Given the description of an element on the screen output the (x, y) to click on. 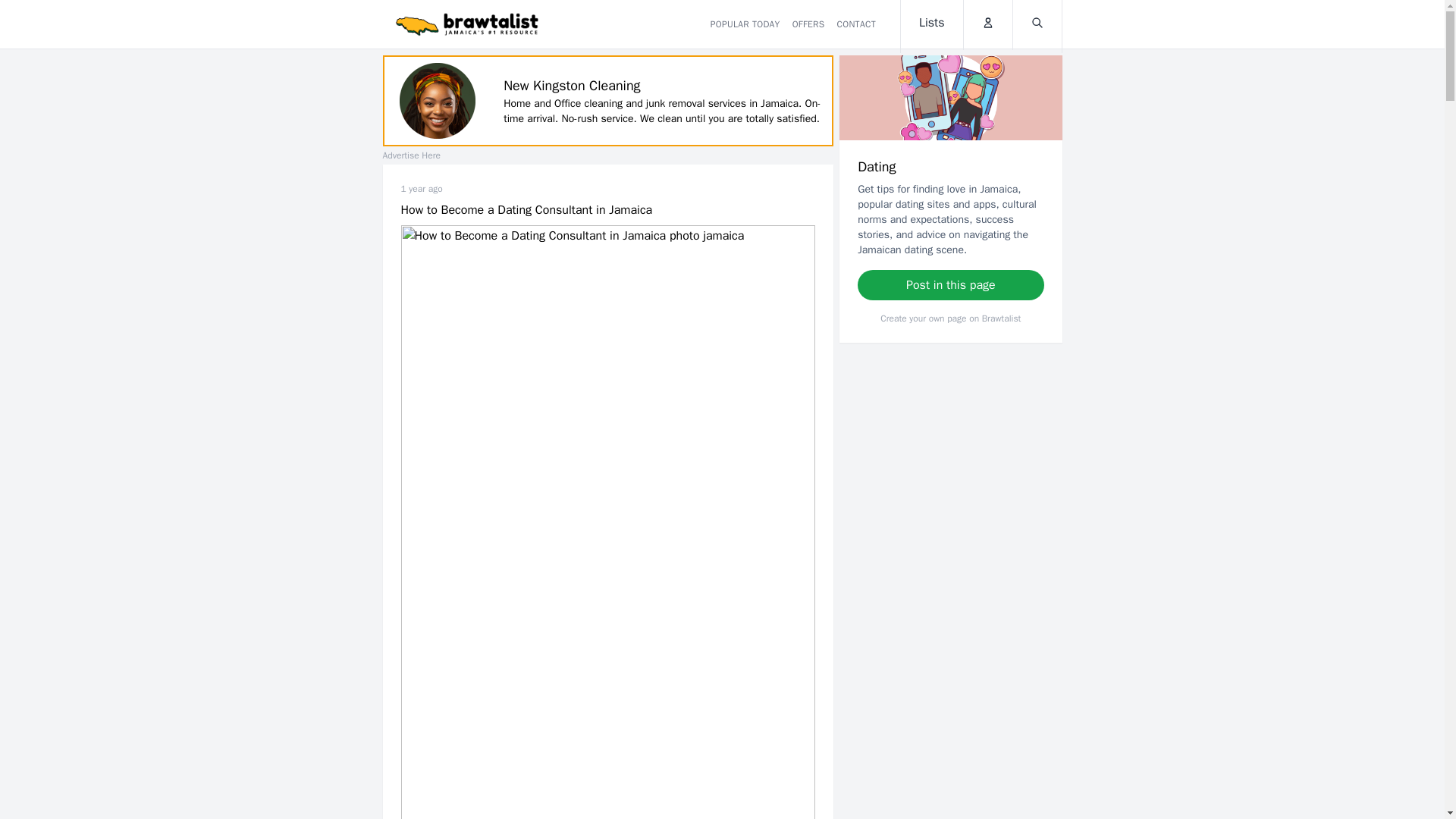
Search (1037, 24)
Lists (931, 26)
Create your own page on Brawtalist (950, 318)
Advertise Here (410, 155)
POPULAR TODAY (745, 24)
Post in this page (950, 284)
Account (986, 24)
